Given the description of an element on the screen output the (x, y) to click on. 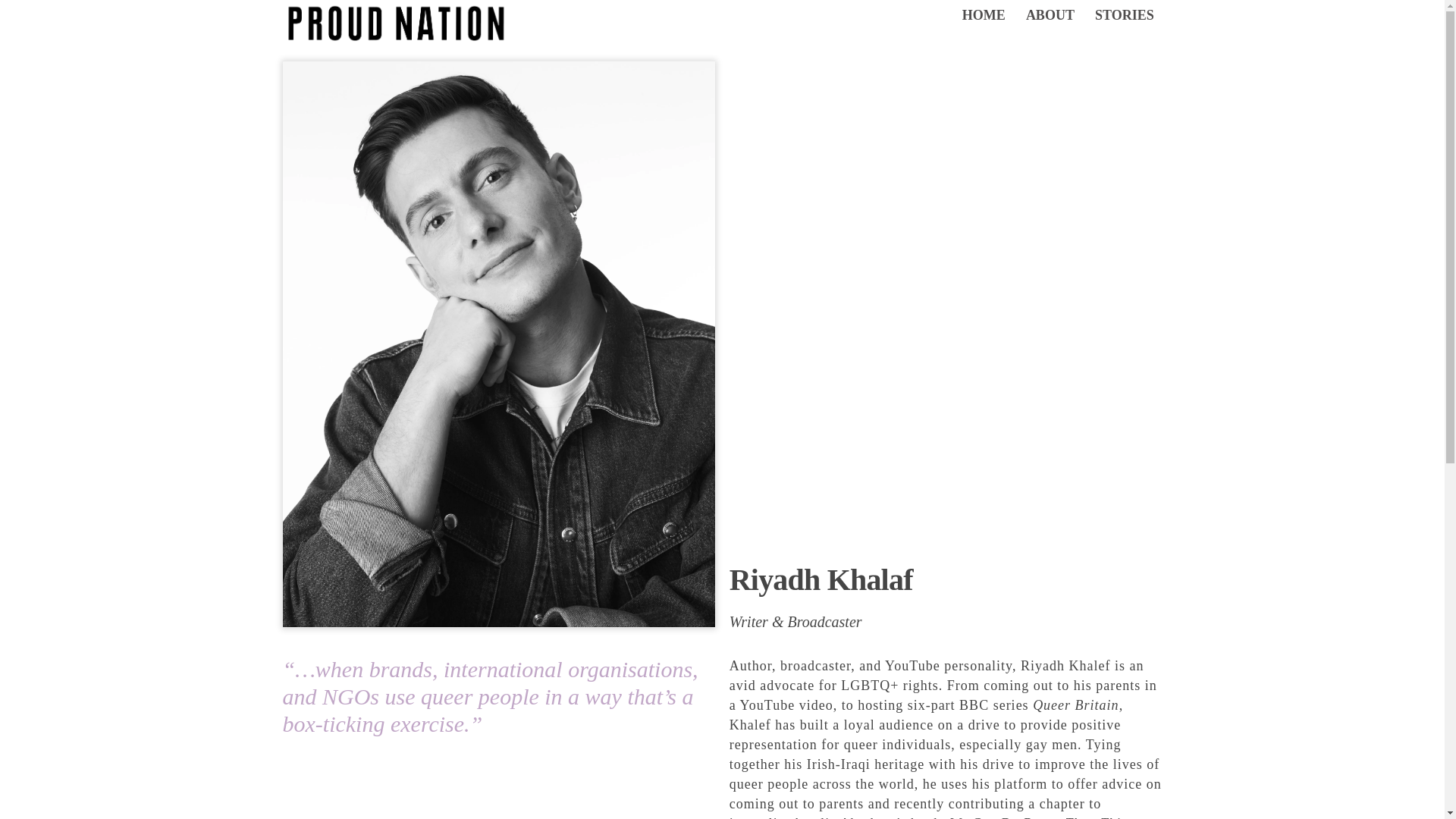
Proud Nation (395, 36)
proud-nation-logo (395, 24)
HOME (983, 15)
ABOUT (1050, 15)
STORIES (1123, 15)
